Given the description of an element on the screen output the (x, y) to click on. 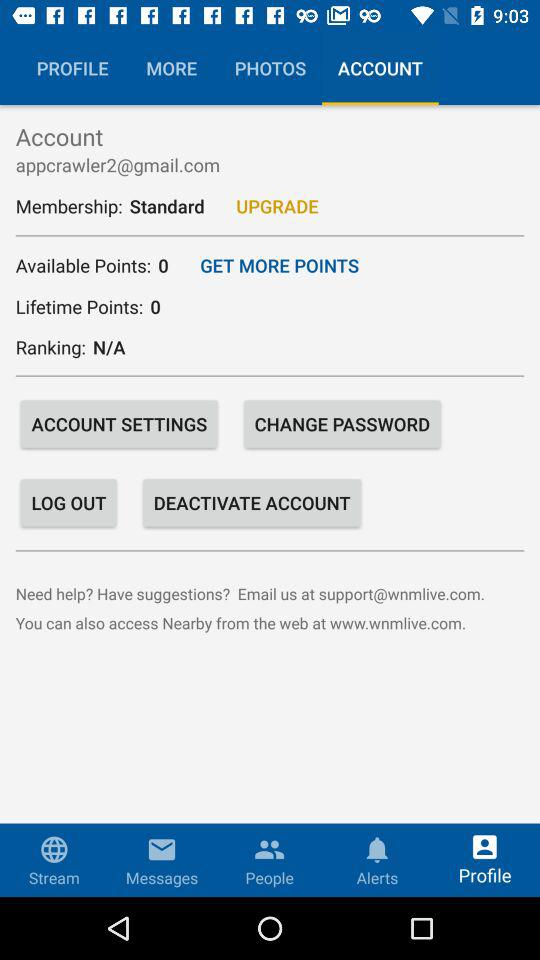
turn off icon to the right of the account settings icon (341, 423)
